Given the description of an element on the screen output the (x, y) to click on. 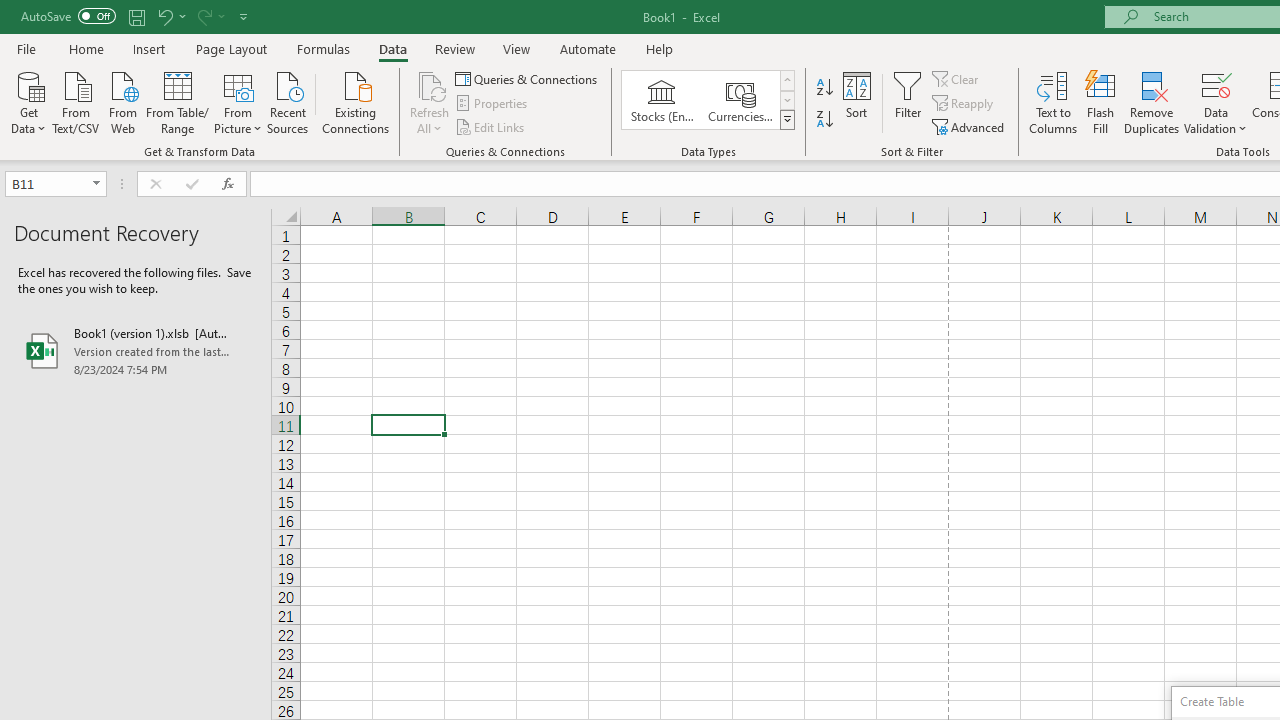
Class: NetUIImage (787, 119)
From Web (122, 101)
Row Down (786, 100)
From Table/Range (177, 101)
Recent Sources (287, 101)
Existing Connections (355, 101)
Data Validation... (1215, 102)
Sort A to Z (824, 87)
